Given the description of an element on the screen output the (x, y) to click on. 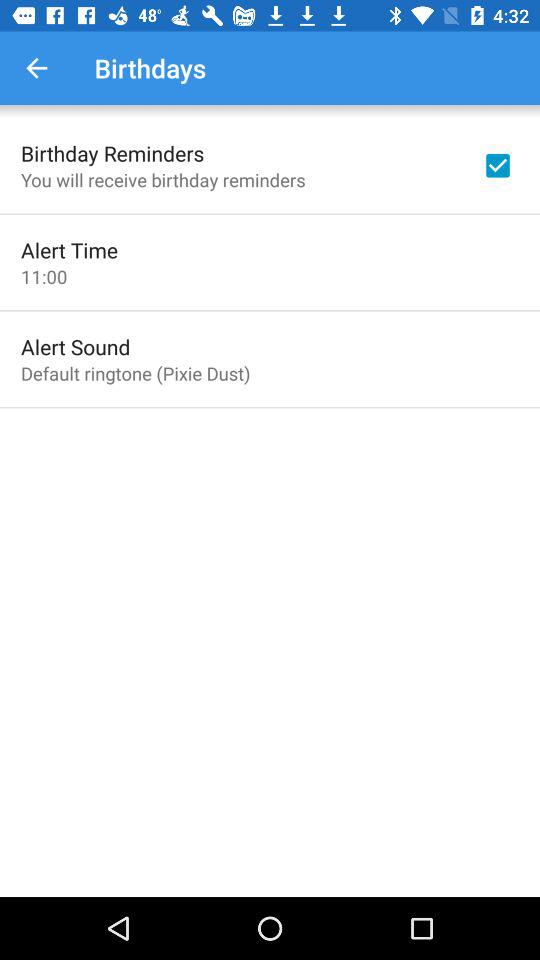
launch icon below the alert time (44, 276)
